Given the description of an element on the screen output the (x, y) to click on. 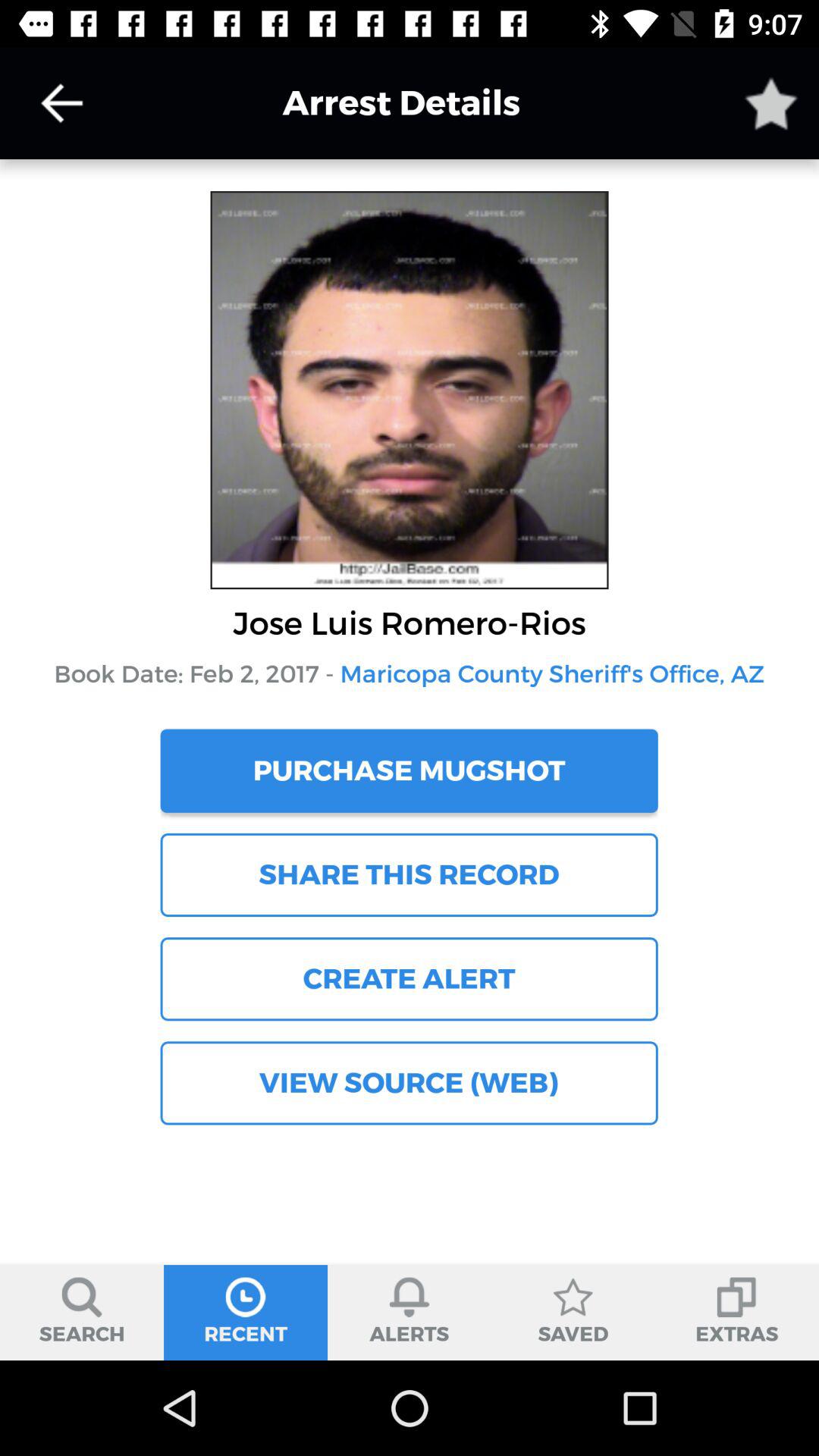
choose the icon above the jose luis romero item (61, 103)
